Given the description of an element on the screen output the (x, y) to click on. 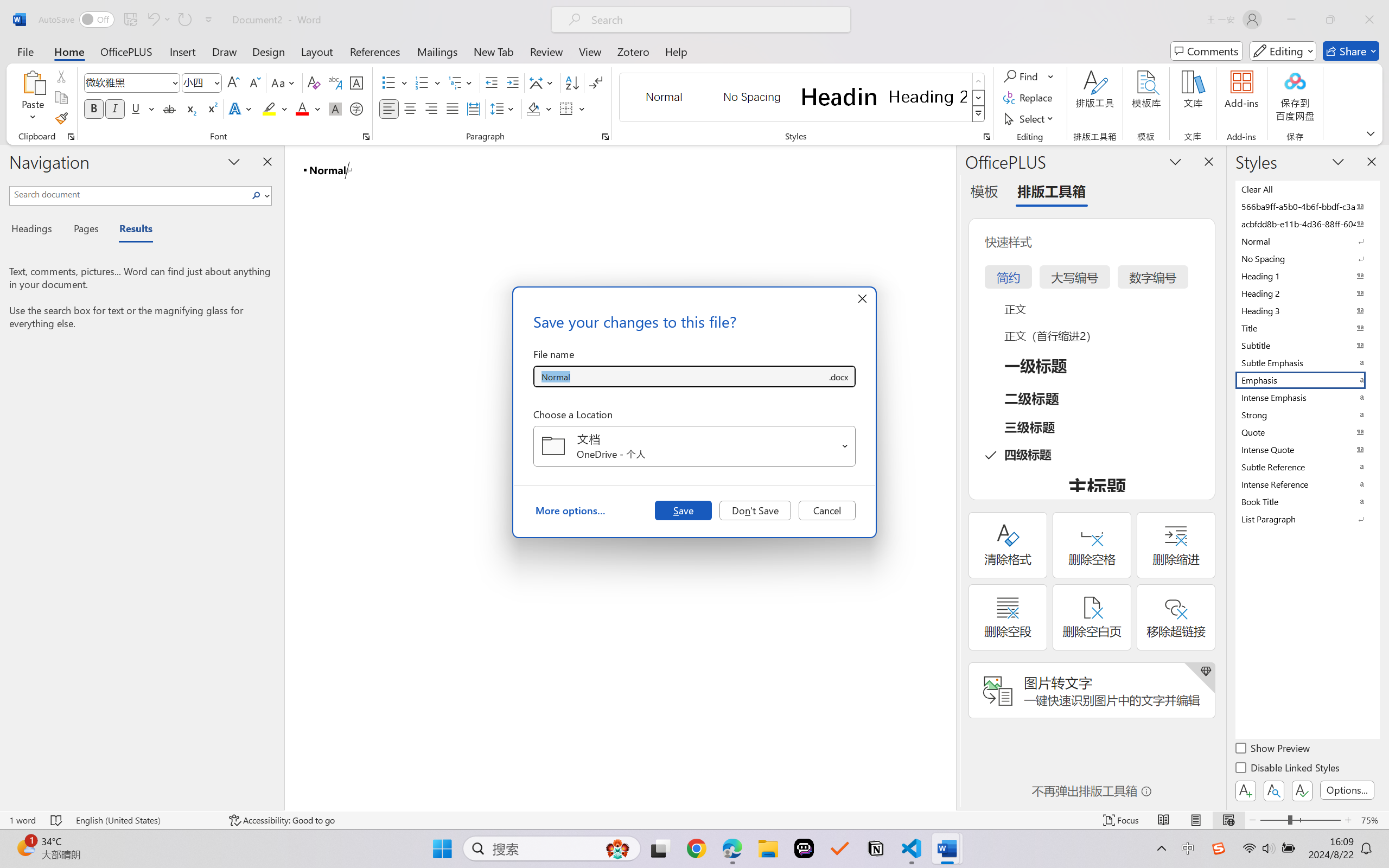
Format Painter (60, 118)
Intense Emphasis (1306, 397)
File Tab (24, 51)
Class: Image (1218, 847)
Align Right (431, 108)
Zoom (1300, 819)
Font... (365, 136)
New Tab (493, 51)
Book Title (1306, 501)
Character Border (356, 82)
